Given the description of an element on the screen output the (x, y) to click on. 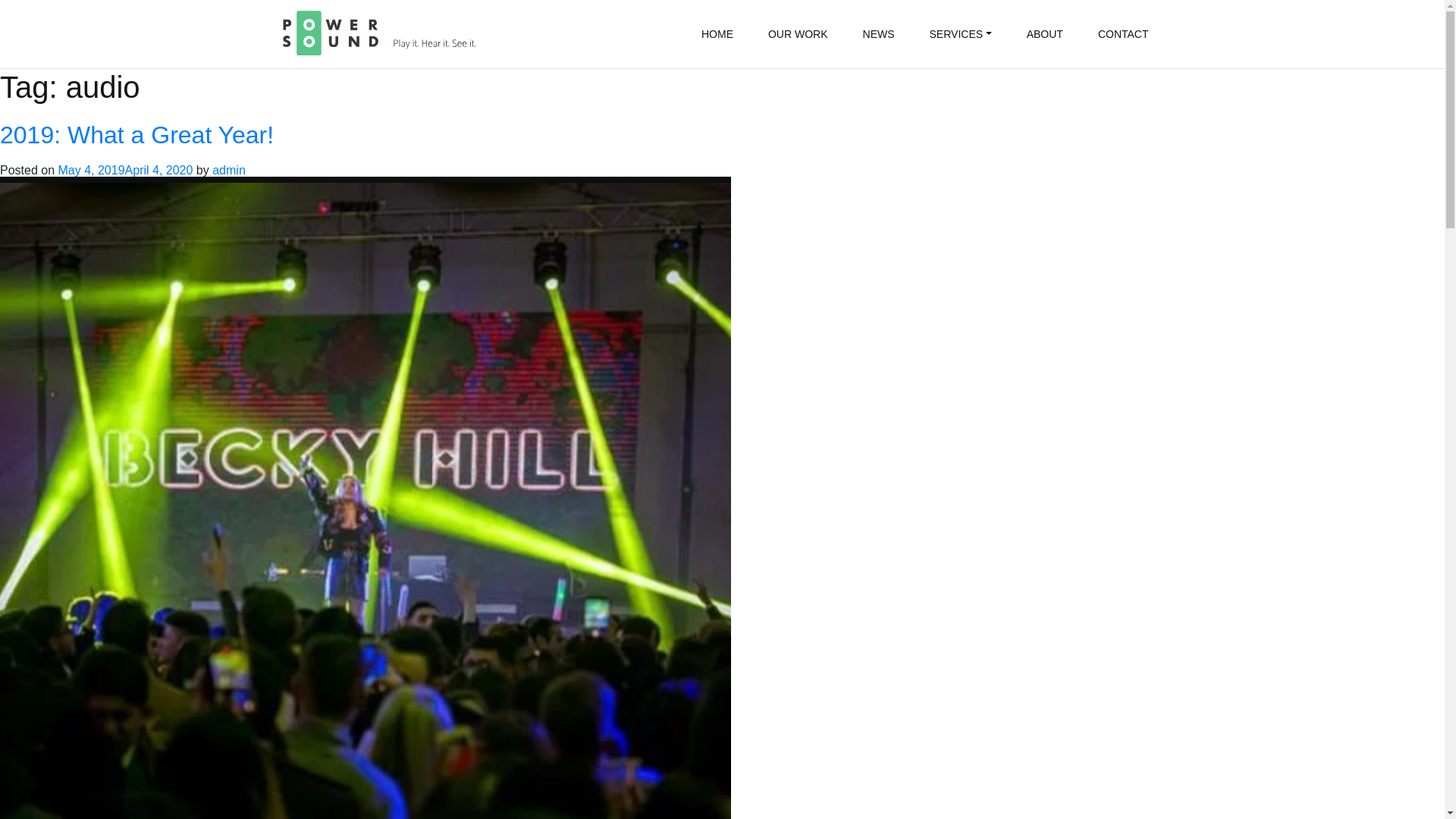
SERVICES (960, 33)
admin (229, 169)
News (879, 33)
NEWS (879, 33)
HOME (717, 33)
Contact (1123, 33)
ABOUT (1044, 33)
May 4, 2019April 4, 2020 (125, 169)
Home (717, 33)
About (1044, 33)
Services (960, 33)
2019: What a Great Year! (136, 134)
CONTACT (1123, 33)
Our Work (797, 33)
OUR WORK (797, 33)
